Given the description of an element on the screen output the (x, y) to click on. 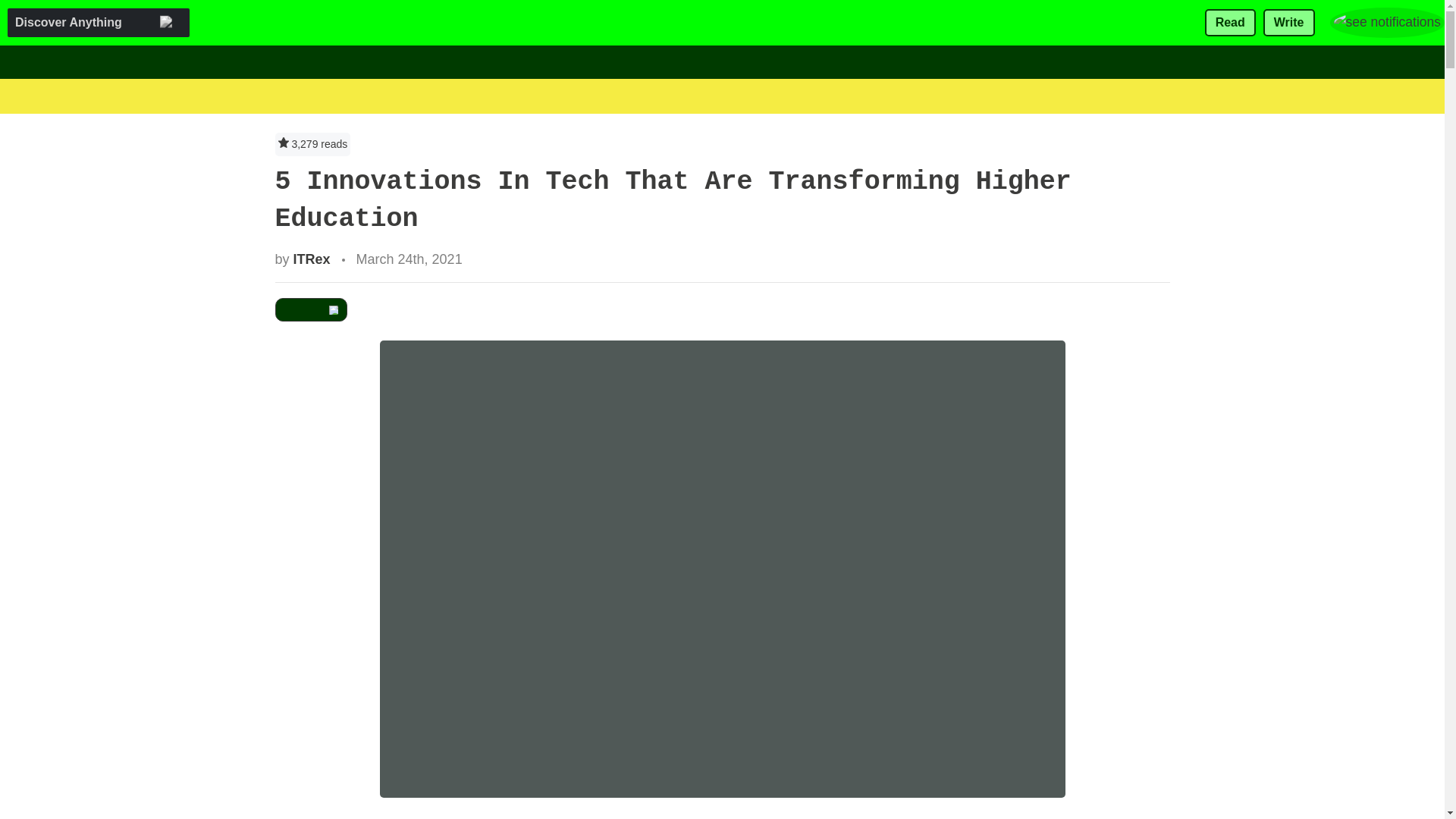
Read (1230, 22)
Write (1288, 22)
ITRex (312, 258)
